Given the description of an element on the screen output the (x, y) to click on. 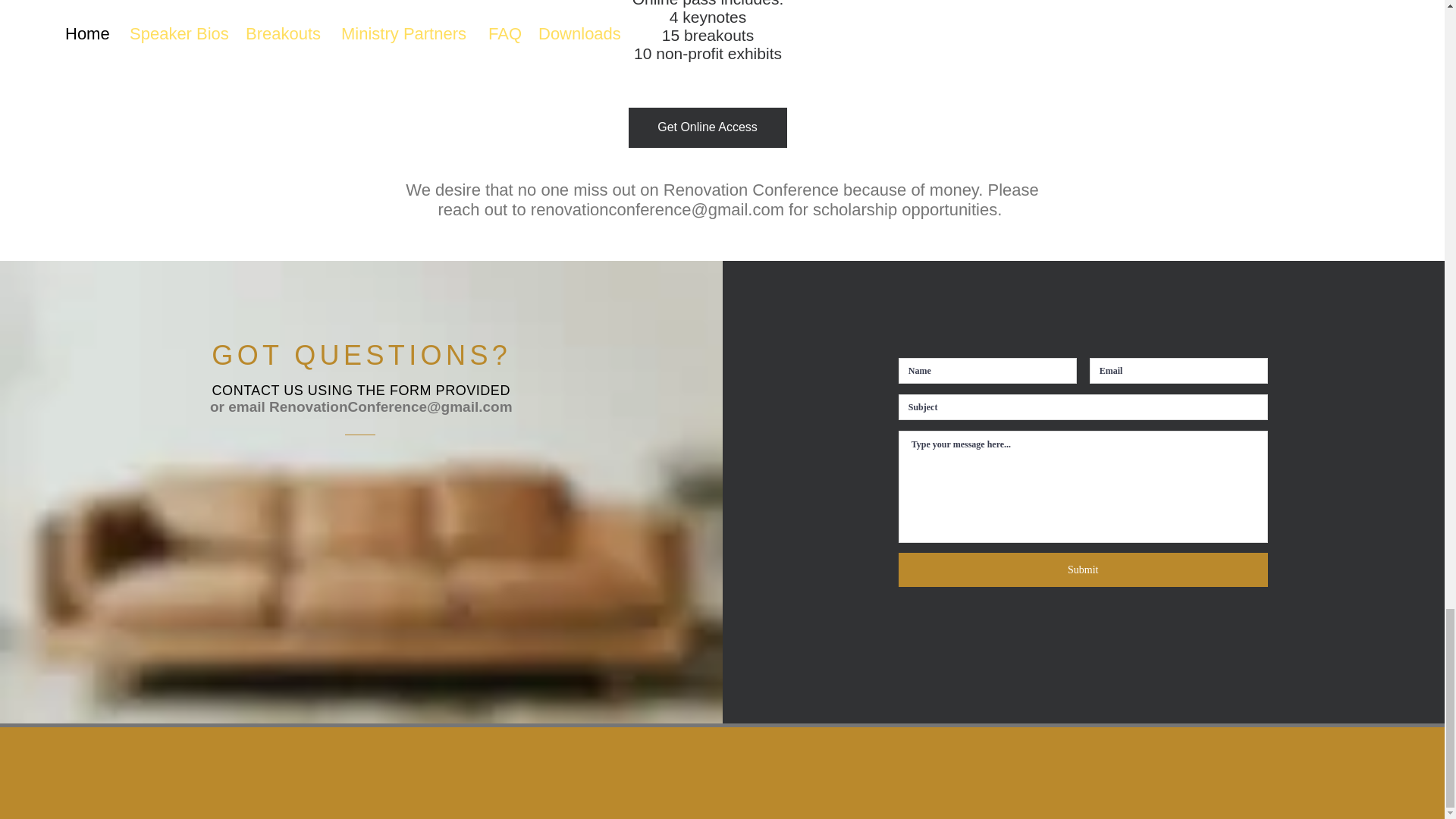
Get Online Access (706, 127)
Submit (1083, 569)
